Given the description of an element on the screen output the (x, y) to click on. 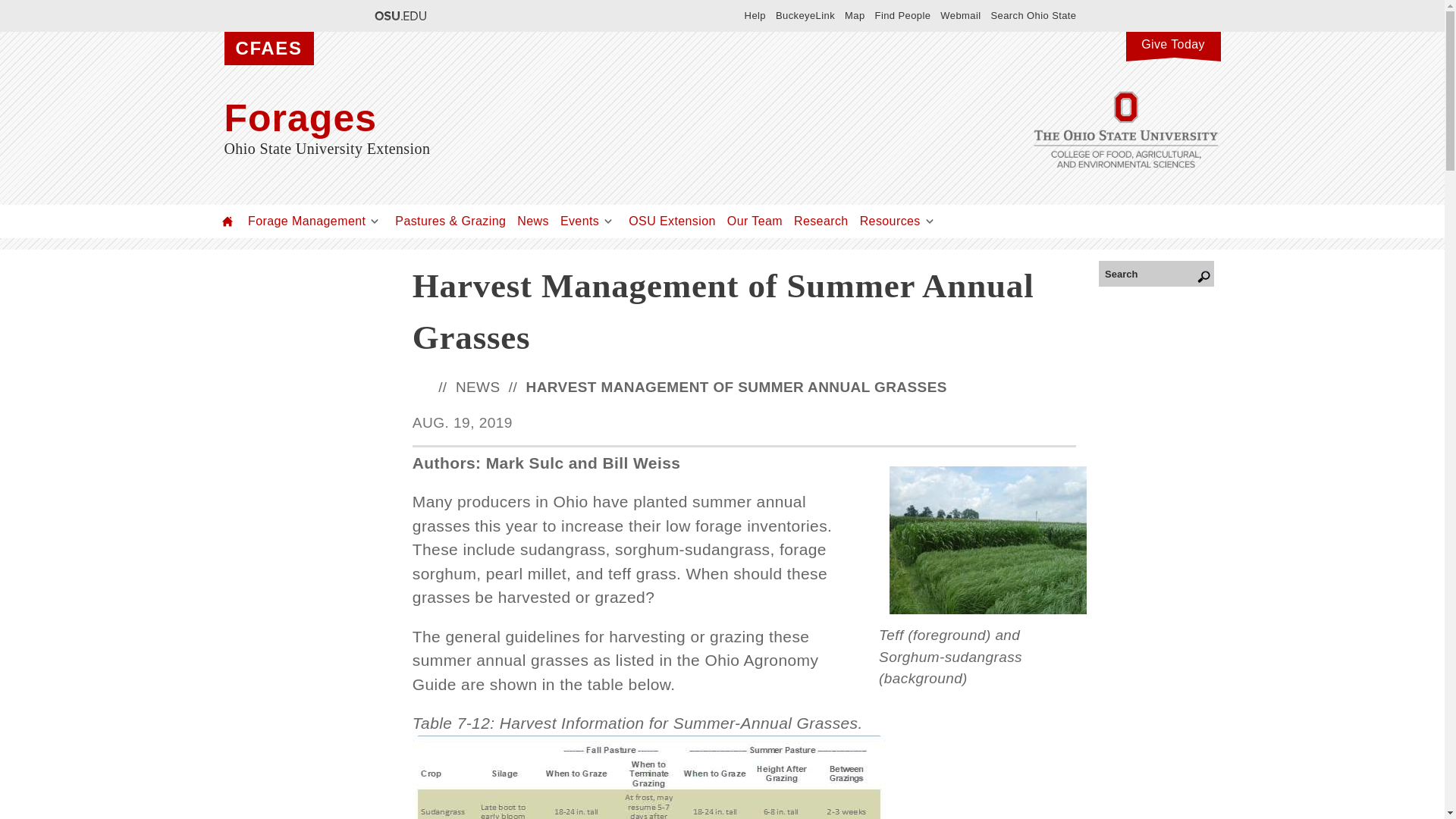
Search (1155, 273)
Home (226, 221)
Our Team (754, 221)
Research (820, 221)
The Ohio State University (399, 15)
Map (854, 15)
Find People (903, 15)
CFAES (269, 48)
News (532, 221)
OSU Extension (672, 221)
